Given the description of an element on the screen output the (x, y) to click on. 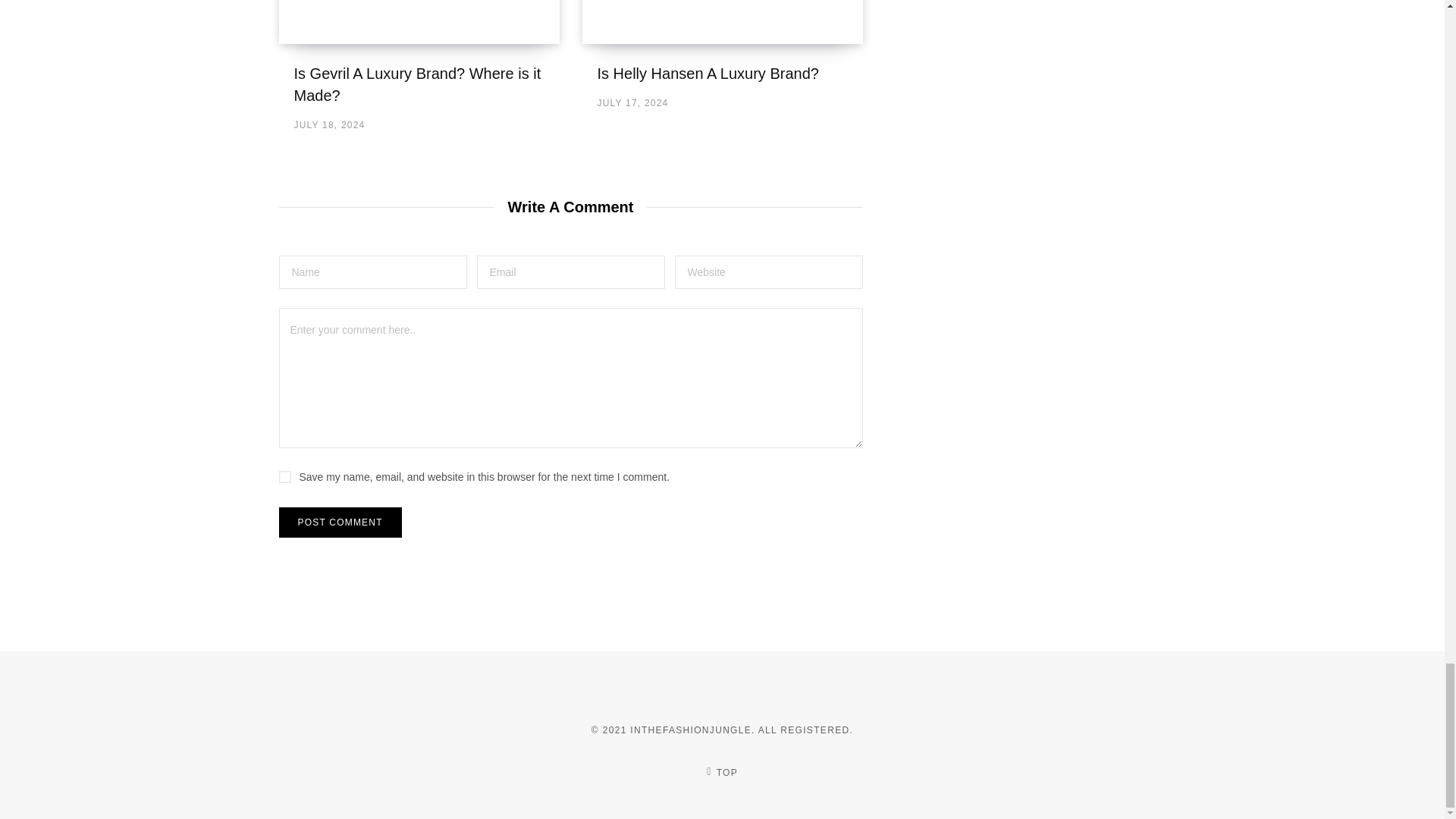
yes (285, 476)
Post Comment (340, 521)
